Given the description of an element on the screen output the (x, y) to click on. 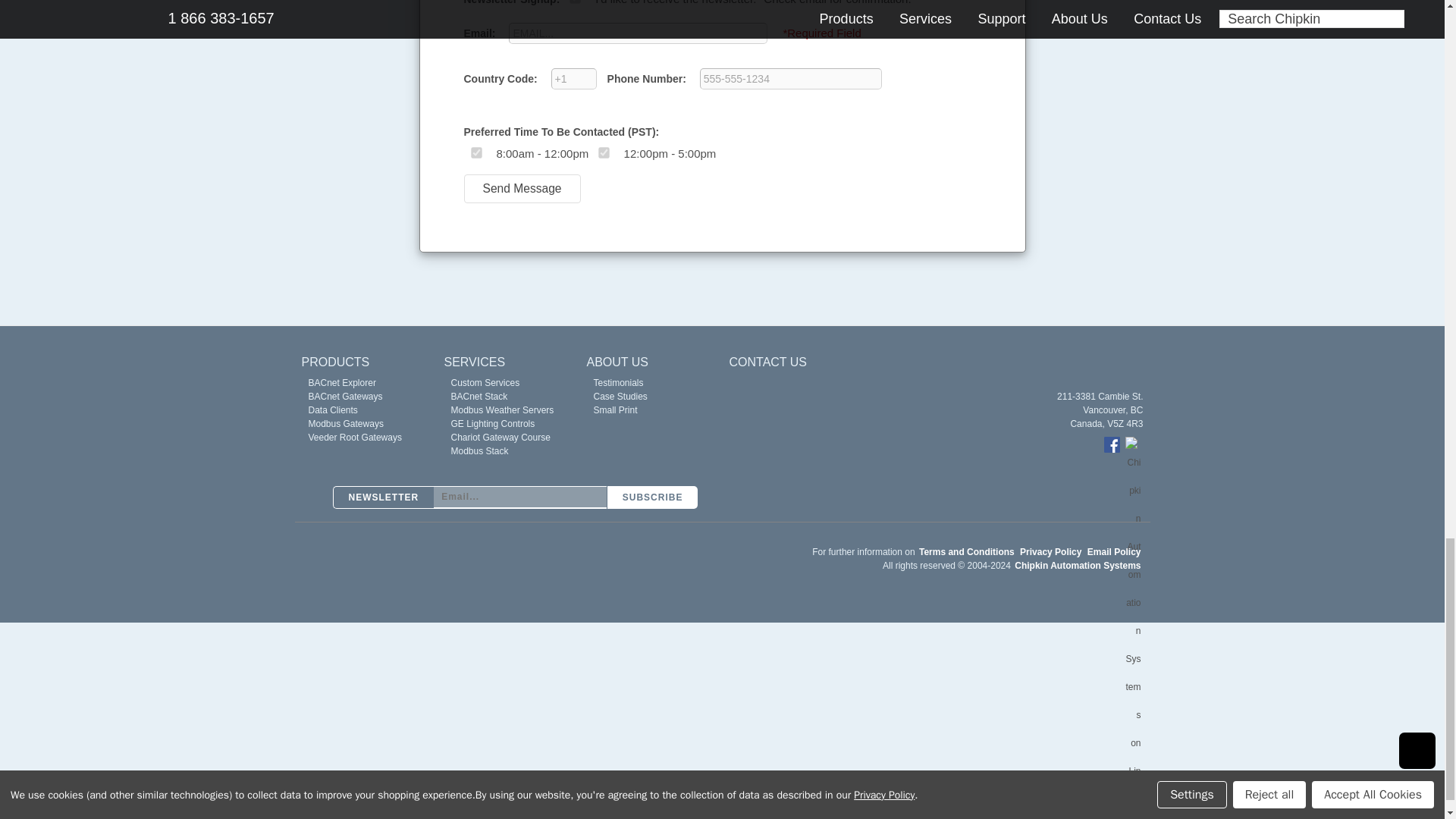
12:00pm - 5:00pm (603, 152)
8:00am - 12:00pm (475, 152)
Subscribe (652, 497)
